Given the description of an element on the screen output the (x, y) to click on. 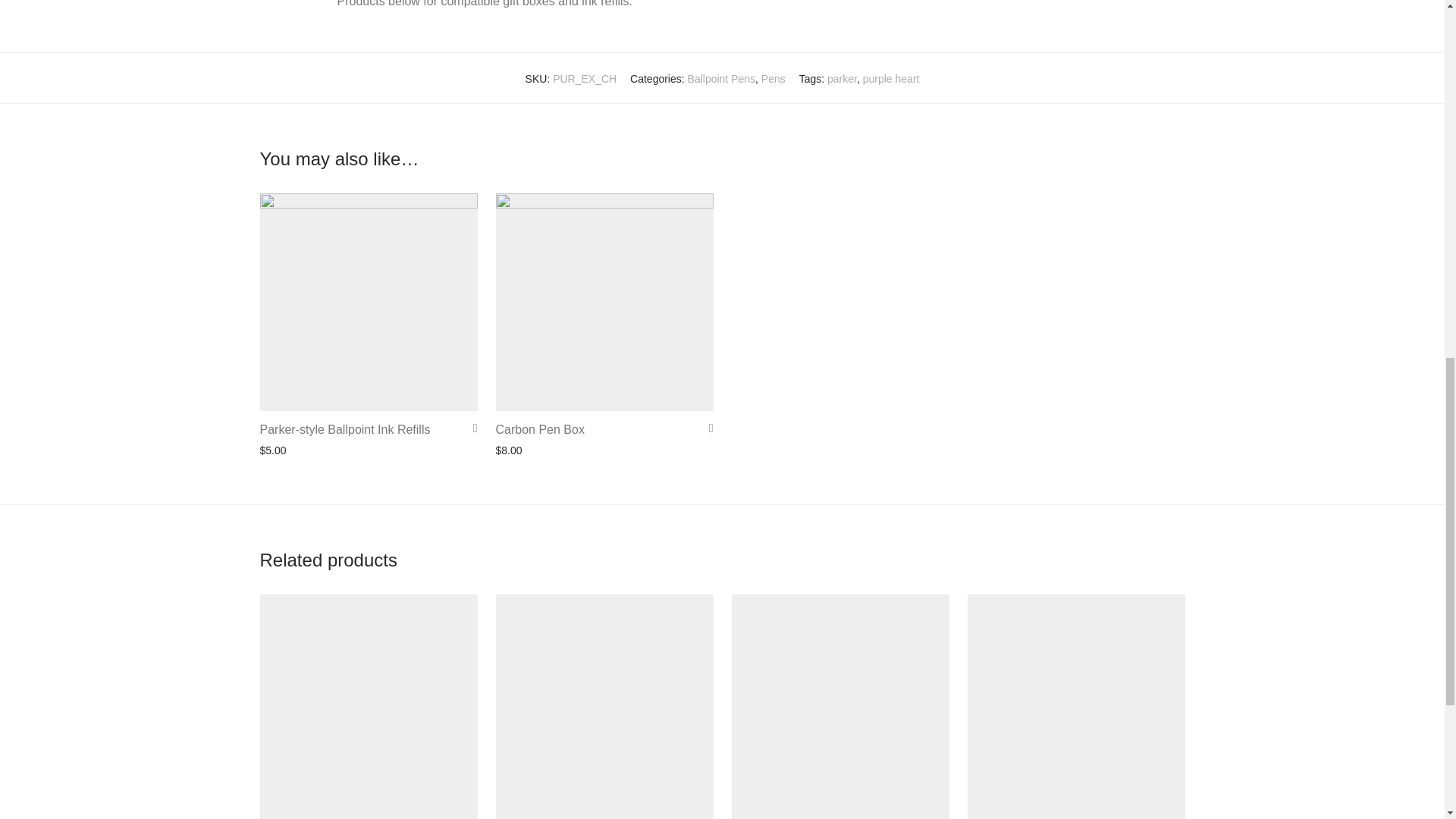
Add to Wishlist (705, 427)
Add to Wishlist (470, 427)
